Given the description of an element on the screen output the (x, y) to click on. 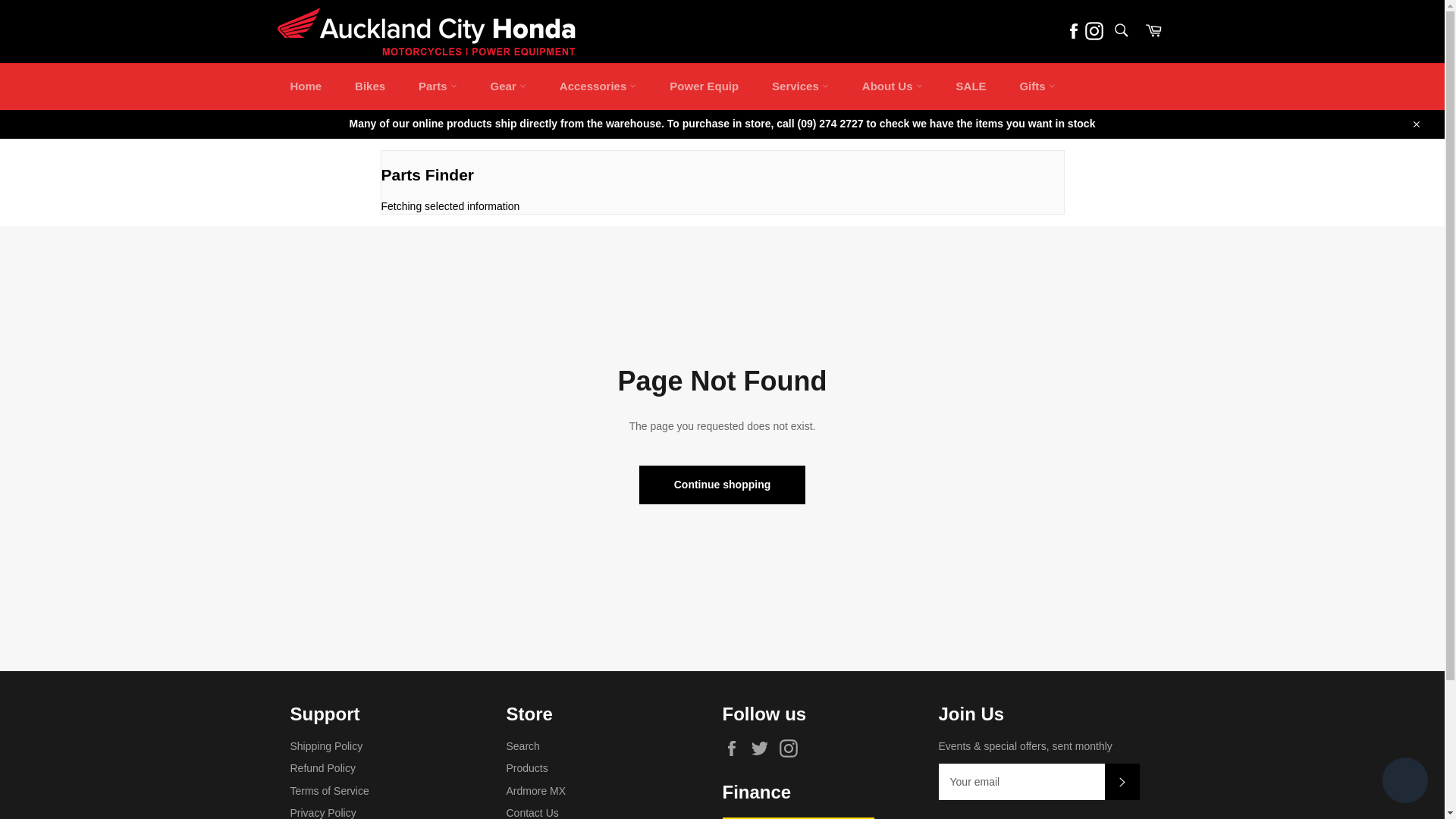
Auckland City Honda on Twitter (763, 748)
Shopify online store chat (1404, 781)
Auckland City Honda on Instagram (791, 748)
Auckland City Honda Motorcycles on Facebook (1073, 30)
Auckland City Honda on Facebook (735, 748)
Auckland City Honda Motorcycles on Instagram (1093, 30)
